Given the description of an element on the screen output the (x, y) to click on. 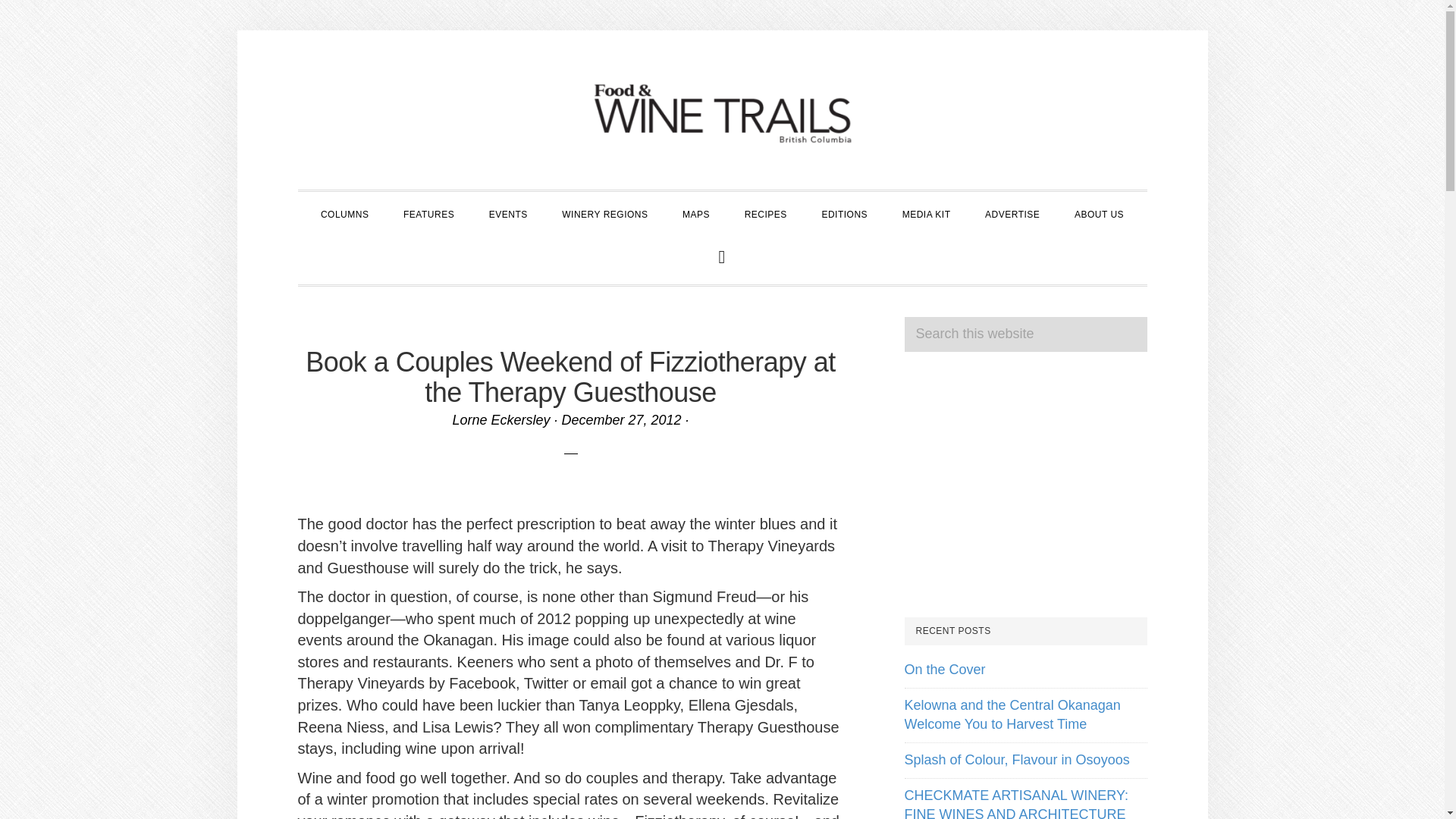
EVENTS (508, 212)
MEDIA KIT (926, 212)
MAPS (695, 212)
COLUMNS (344, 212)
WINERY REGIONS (604, 212)
EDITIONS (844, 212)
FEATURES (428, 212)
